Given the description of an element on the screen output the (x, y) to click on. 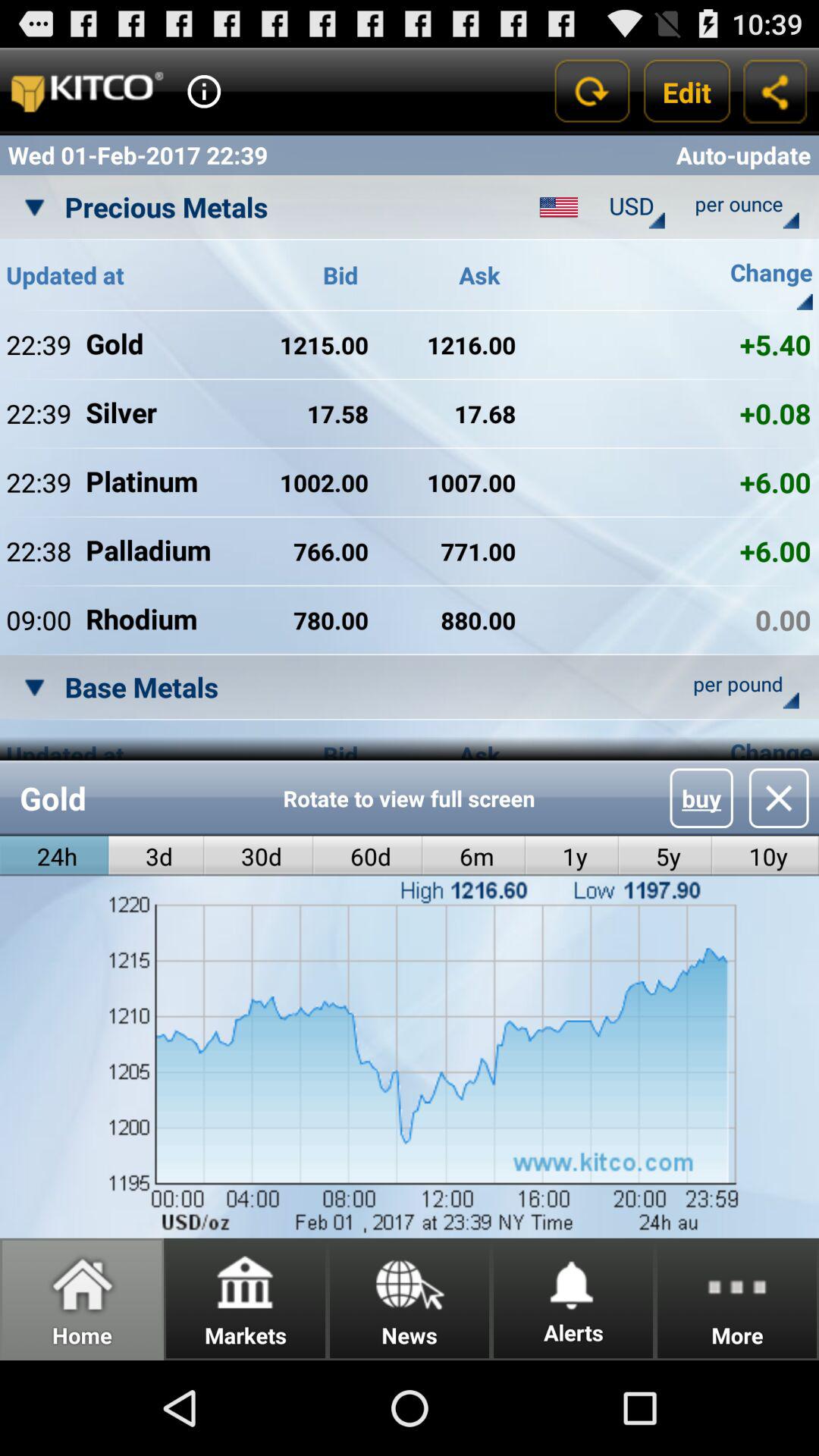
scroll to 24h item (54, 856)
